Given the description of an element on the screen output the (x, y) to click on. 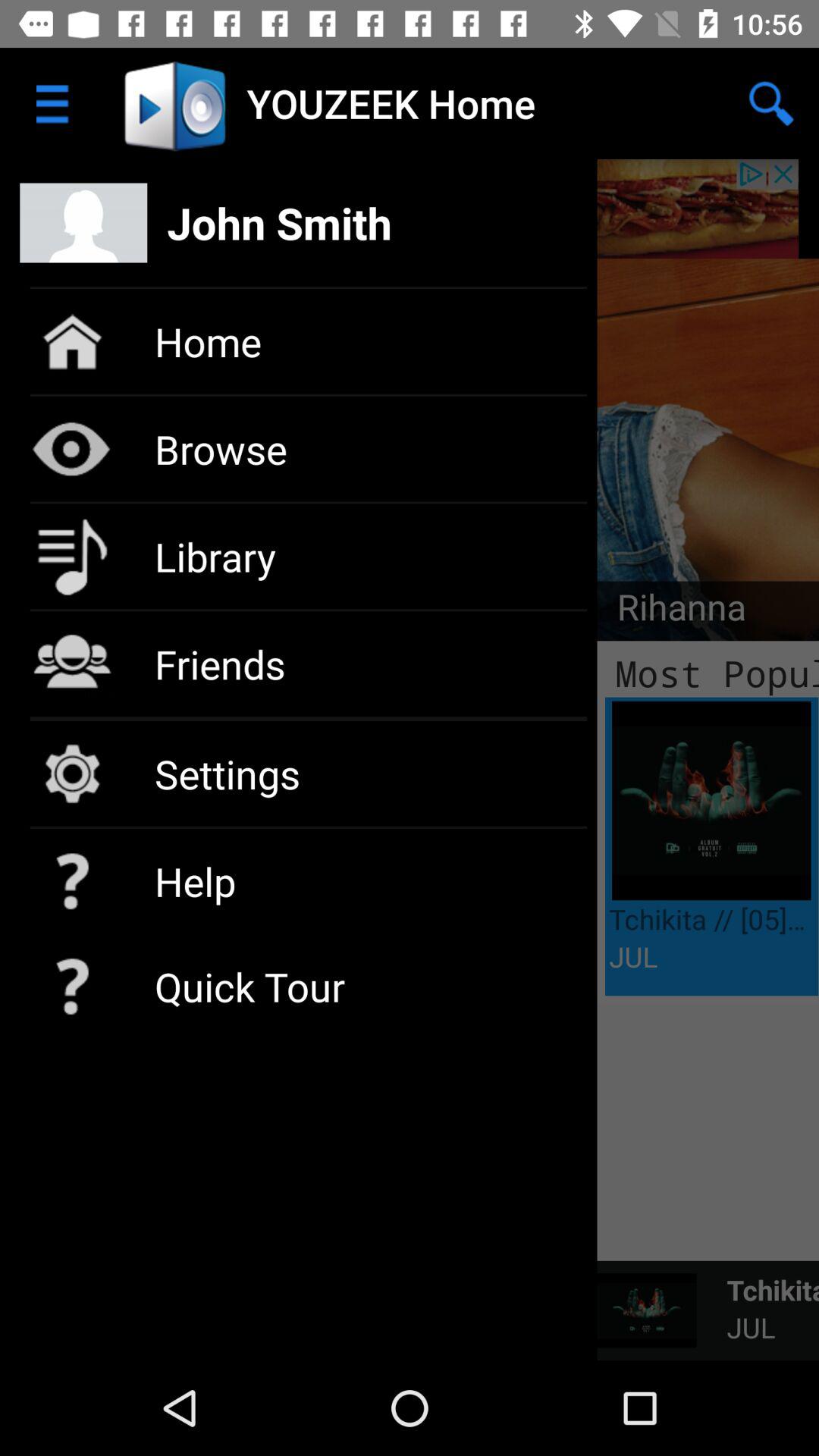
press the icon below john smith item (671, 611)
